Given the description of an element on the screen output the (x, y) to click on. 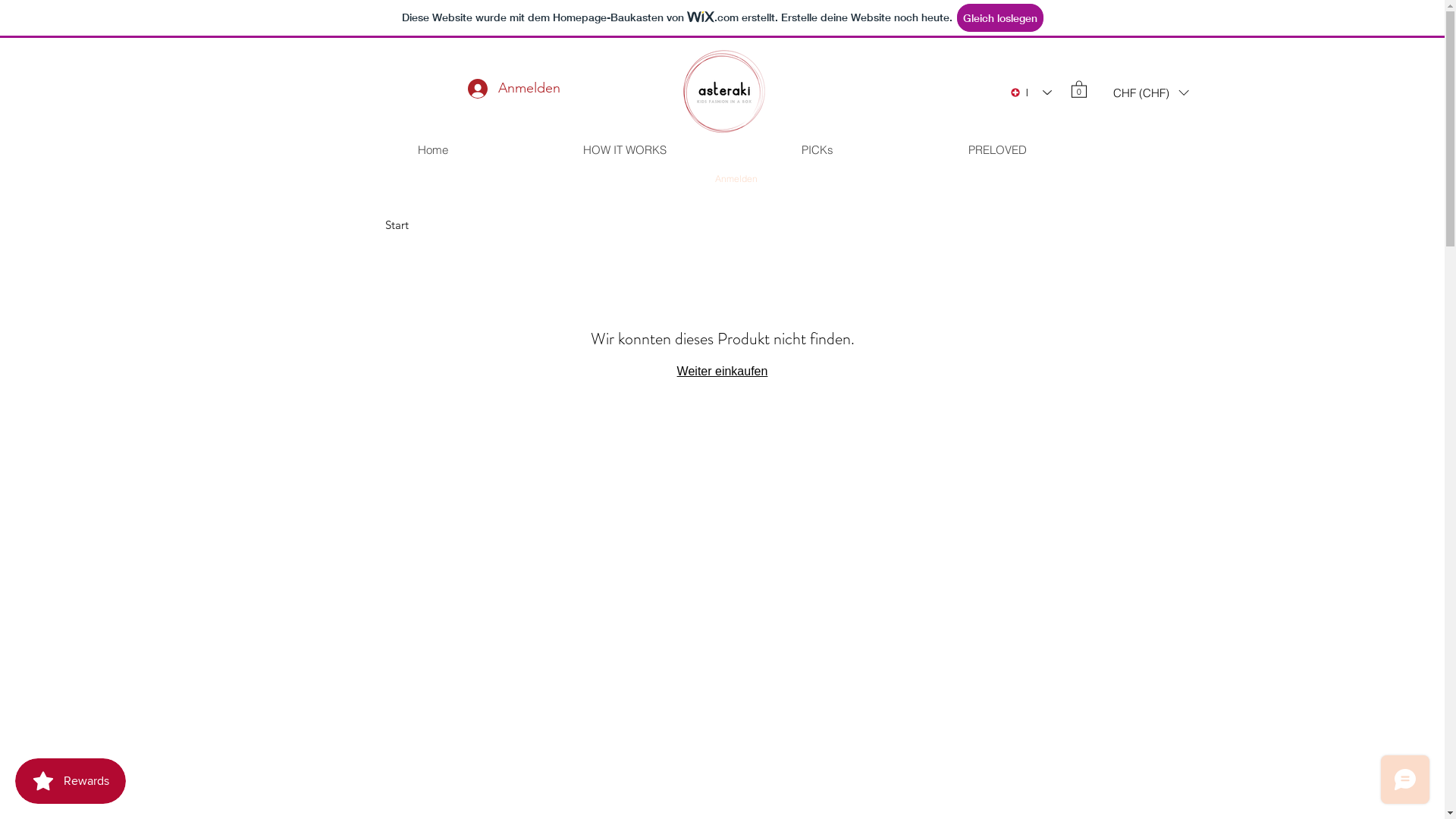
0 Element type: text (1077, 88)
Anmelden Element type: text (735, 179)
PICKs Element type: text (817, 149)
Home Element type: text (432, 149)
Smile.io Rewards Program Launcher Element type: hover (70, 780)
CHF (CHF) Element type: text (1150, 92)
Anmelden Element type: text (513, 88)
Start Element type: text (396, 224)
Weiter einkaufen Element type: text (722, 370)
